Given the description of an element on the screen output the (x, y) to click on. 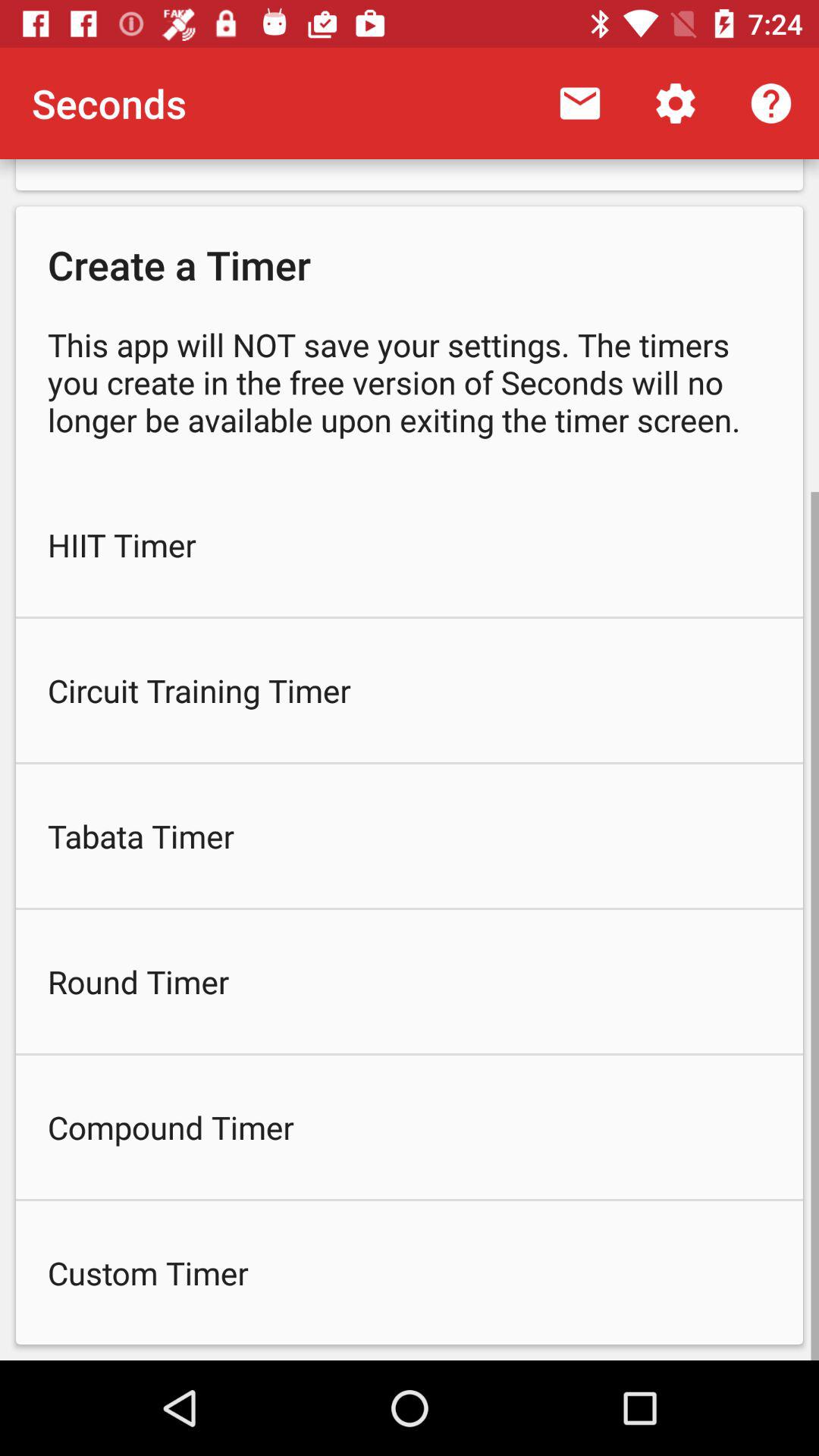
swipe to hiit timer (409, 544)
